Given the description of an element on the screen output the (x, y) to click on. 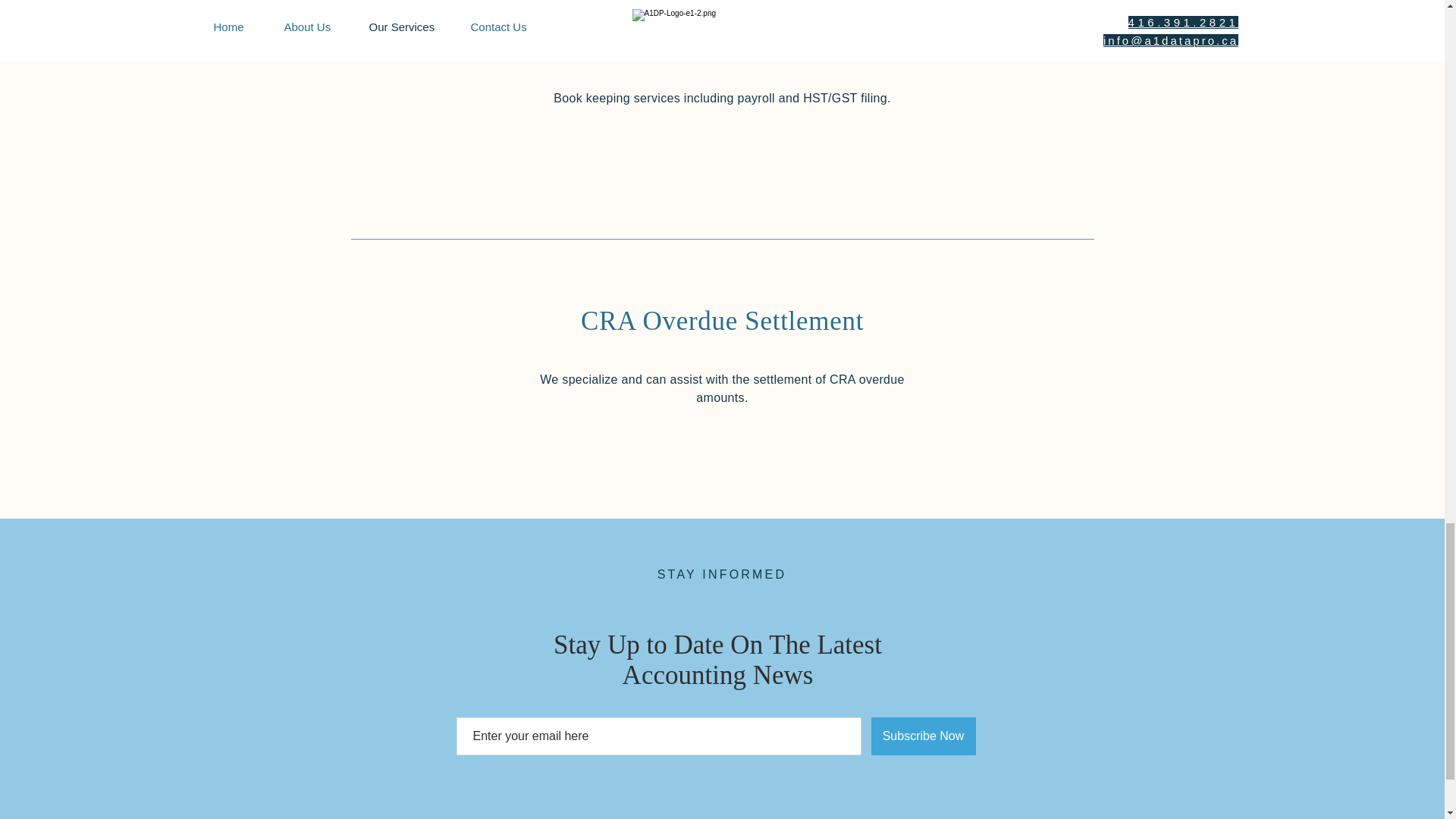
Subscribe Now (922, 736)
